Given the description of an element on the screen output the (x, y) to click on. 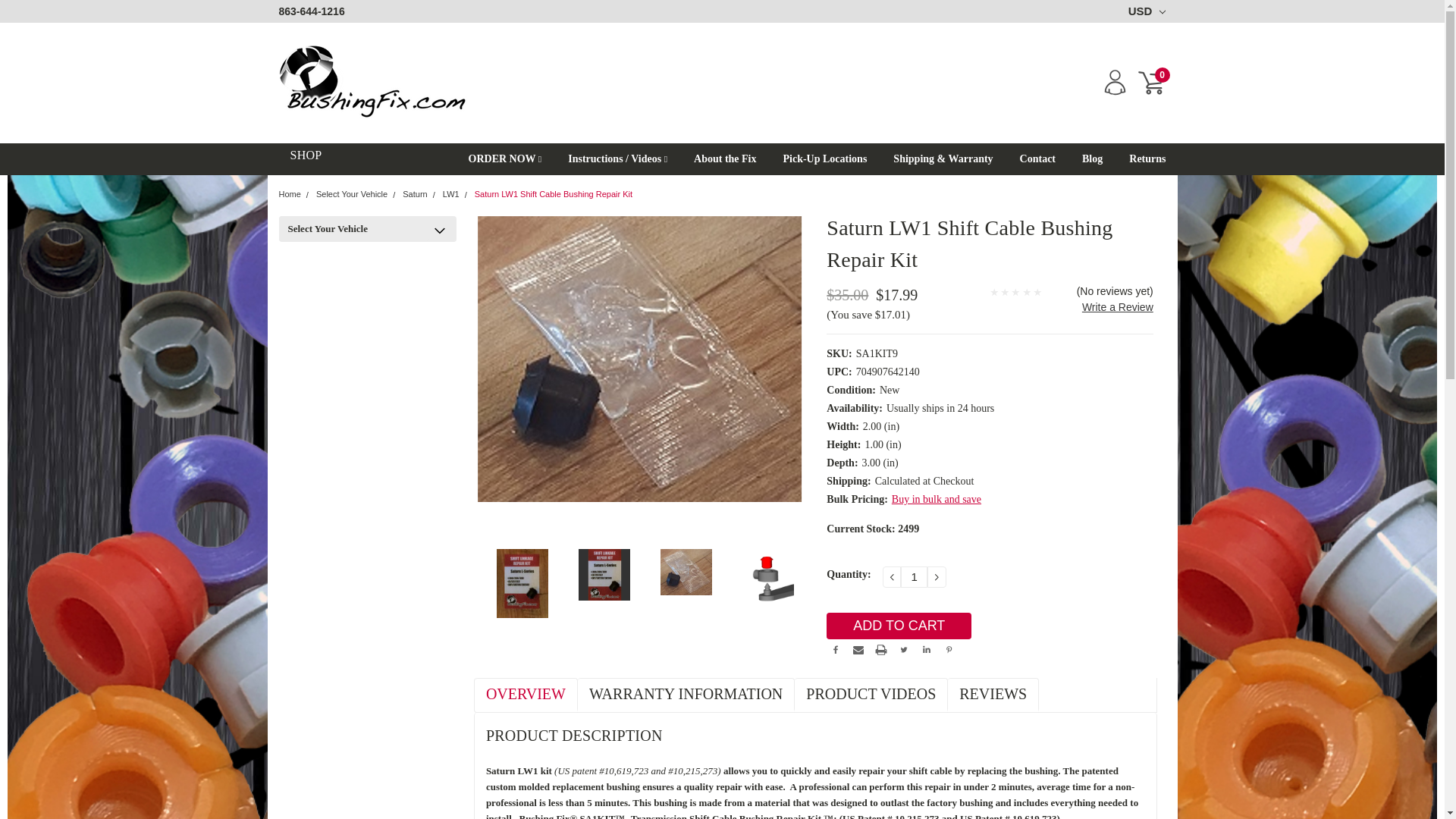
863-644-1216 (312, 10)
1 (914, 577)
Add to Cart (899, 625)
0 (1151, 82)
USD (1143, 11)
Saturn LW1 Shift Linkage Bushing (639, 358)
Saturn LW1 Shift Cable Replacement Grommet (604, 574)
Saturn LW1 Shift Linkage Bushing (686, 571)
Saturn LW1 Shift Cable Repair (767, 577)
